Given the description of an element on the screen output the (x, y) to click on. 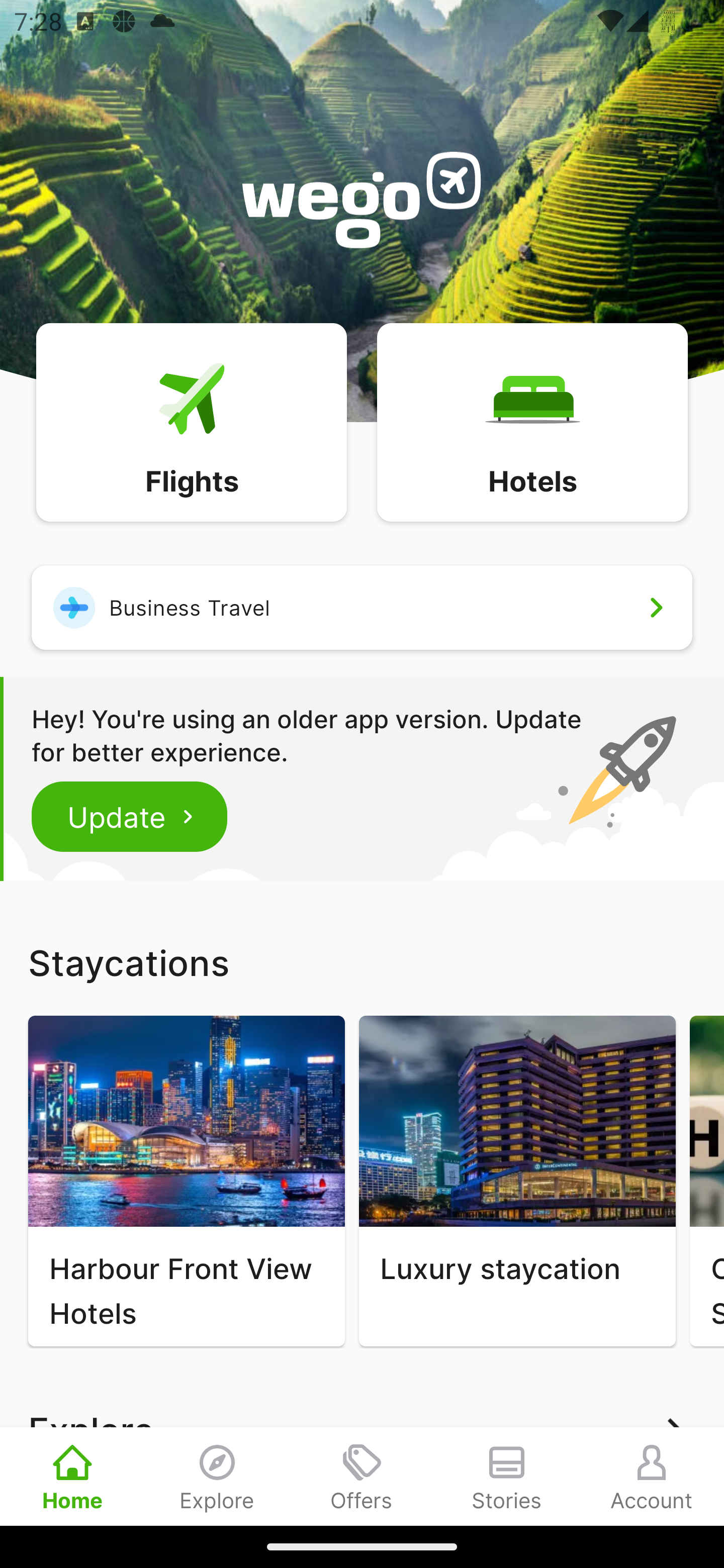
Flights (191, 420)
Hotels (532, 420)
Business Travel (361, 607)
Update (129, 815)
Staycations (362, 962)
Harbour Front View Hotels (186, 1181)
Luxury staycation (517, 1181)
Explore (216, 1475)
Offers (361, 1475)
Stories (506, 1475)
Account (651, 1475)
